Given the description of an element on the screen output the (x, y) to click on. 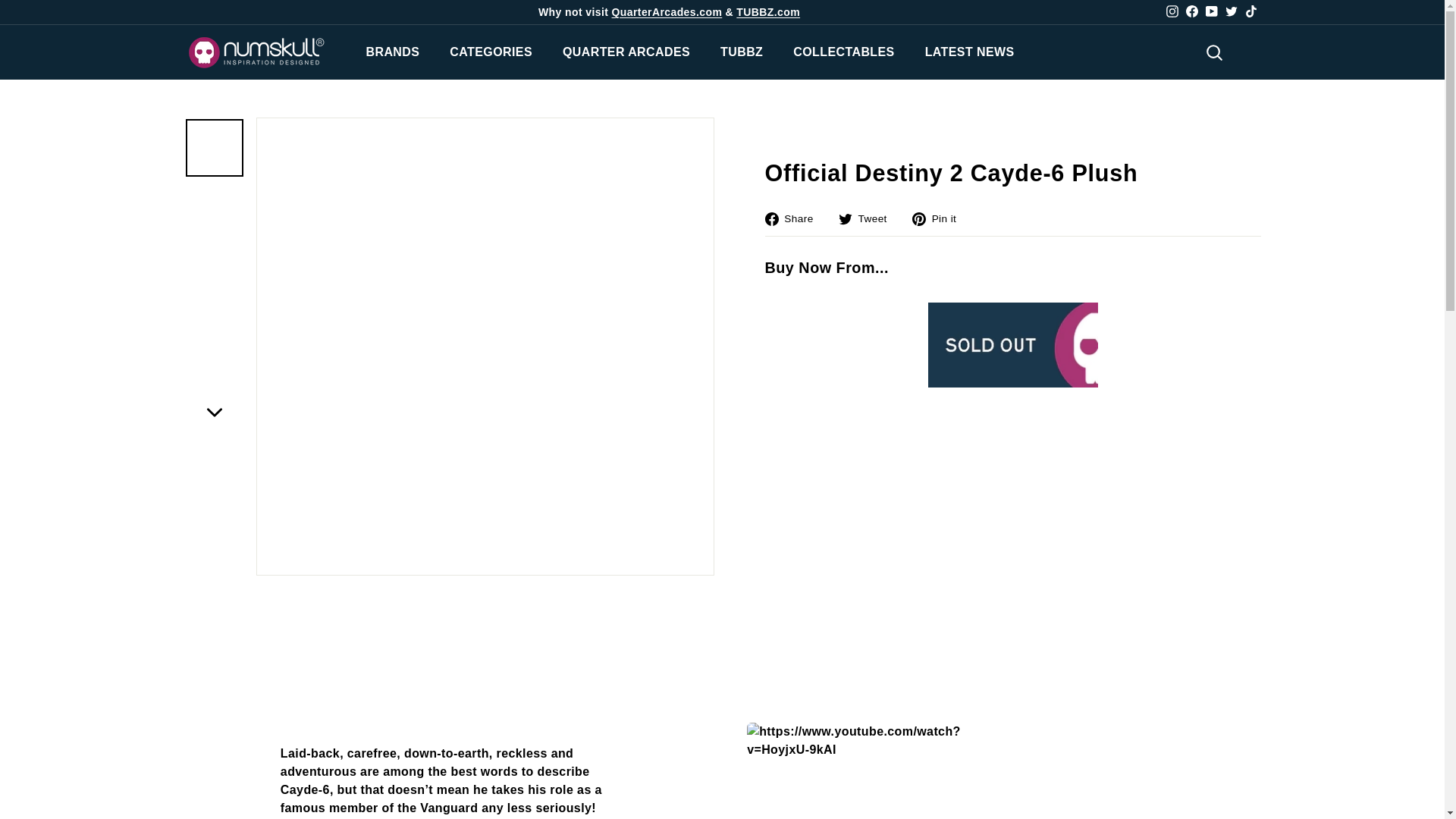
Tweet on Twitter (868, 218)
BRANDS (391, 51)
QuarterArcades.com (666, 11)
Pin on Pinterest (940, 218)
TUBBZ.com (767, 11)
Share on Facebook (794, 218)
